Given the description of an element on the screen output the (x, y) to click on. 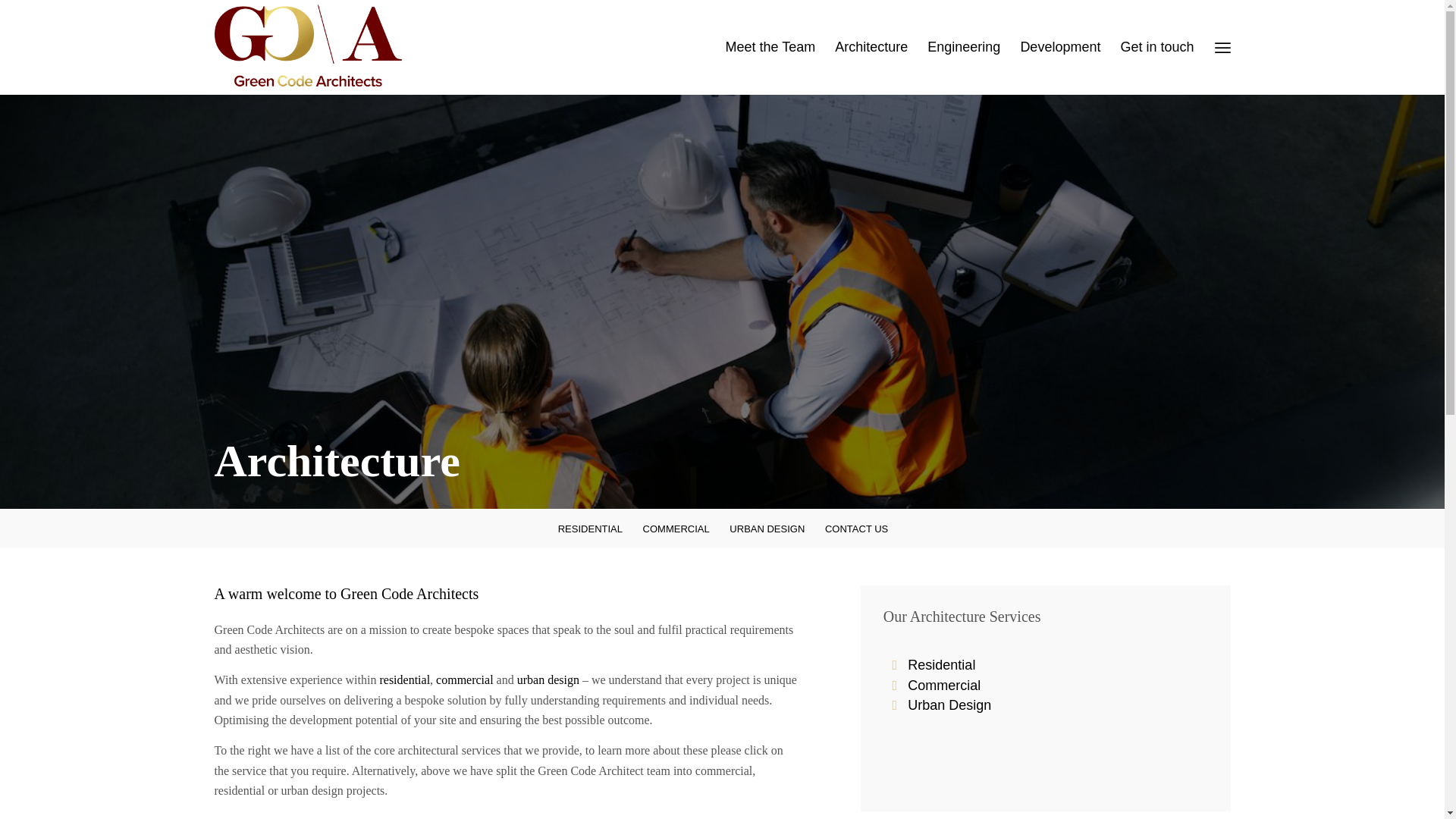
RESIDENTIAL (589, 528)
Development (1059, 47)
COMMERCIAL (675, 528)
Engineering (963, 47)
Meet the Team (770, 47)
CONTACT US (855, 528)
URBAN DESIGN (765, 528)
Commercial (943, 685)
residential (403, 679)
Urban Design (949, 704)
Architecture (871, 47)
Residential (941, 664)
Get in touch (1156, 47)
